Given the description of an element on the screen output the (x, y) to click on. 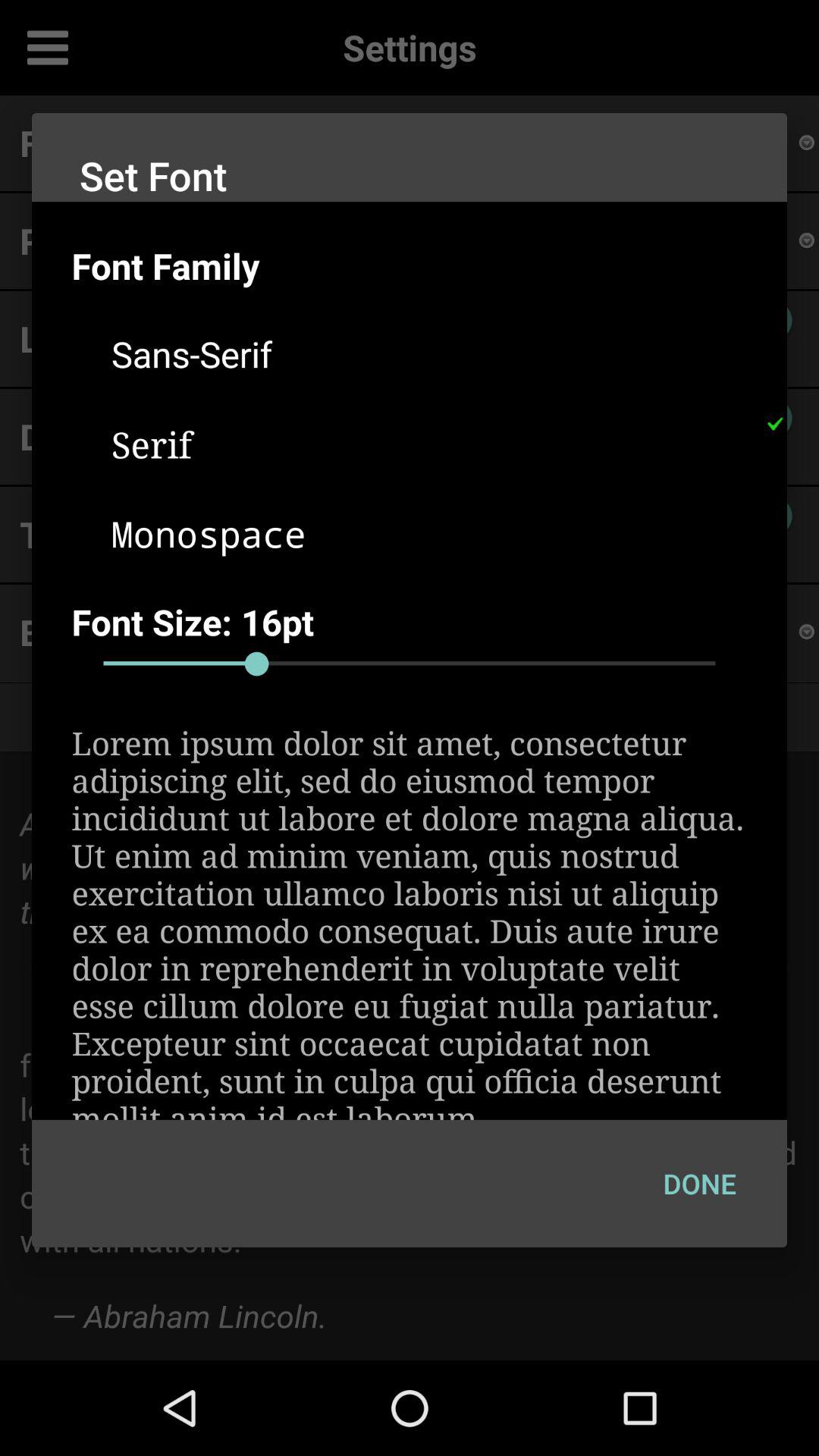
jump to sans-serif icon (429, 353)
